Given the description of an element on the screen output the (x, y) to click on. 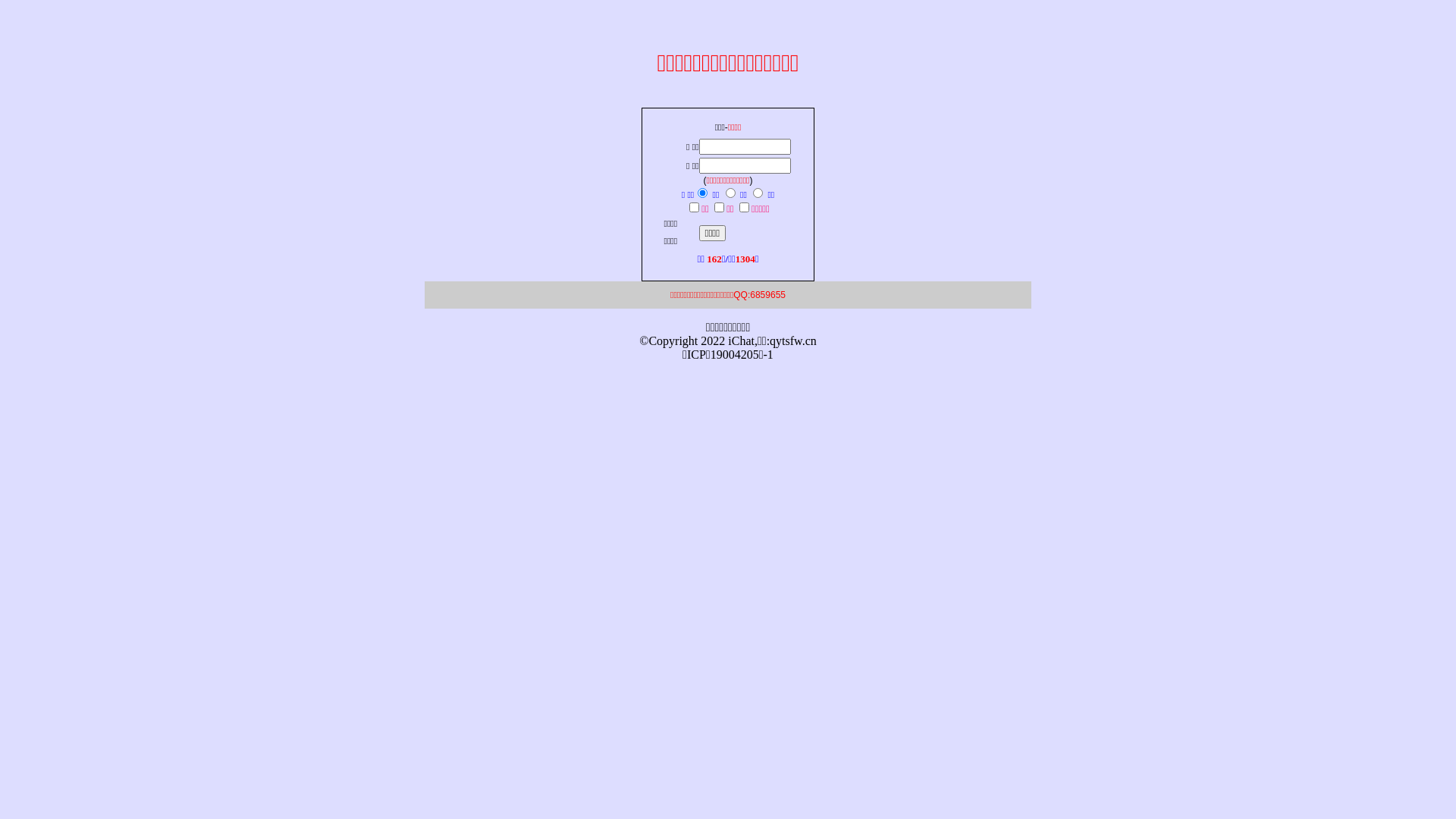
qytsfw.cn Element type: text (792, 340)
